Given the description of an element on the screen output the (x, y) to click on. 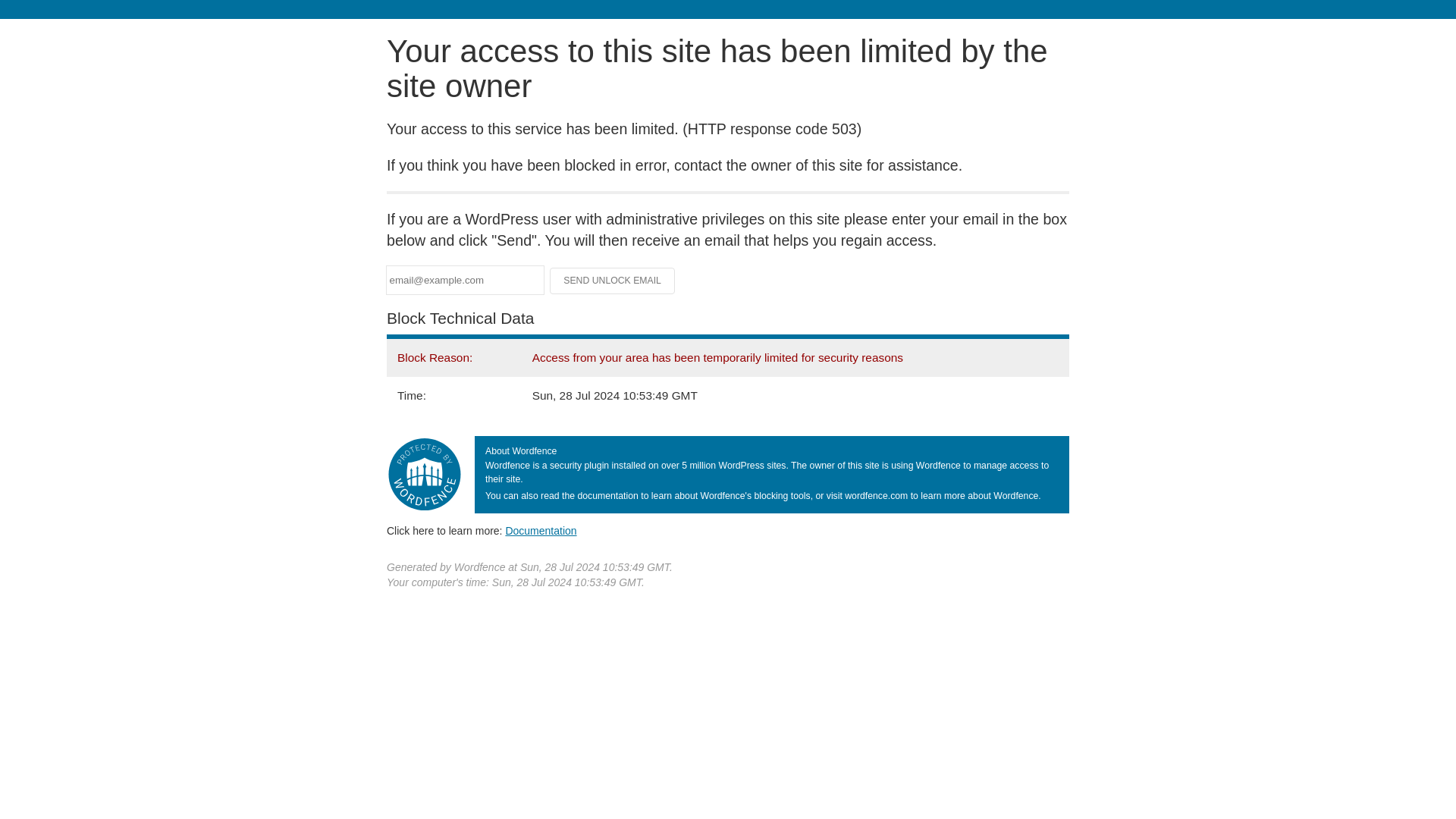
Send Unlock Email (612, 280)
Send Unlock Email (612, 280)
